Given the description of an element on the screen output the (x, y) to click on. 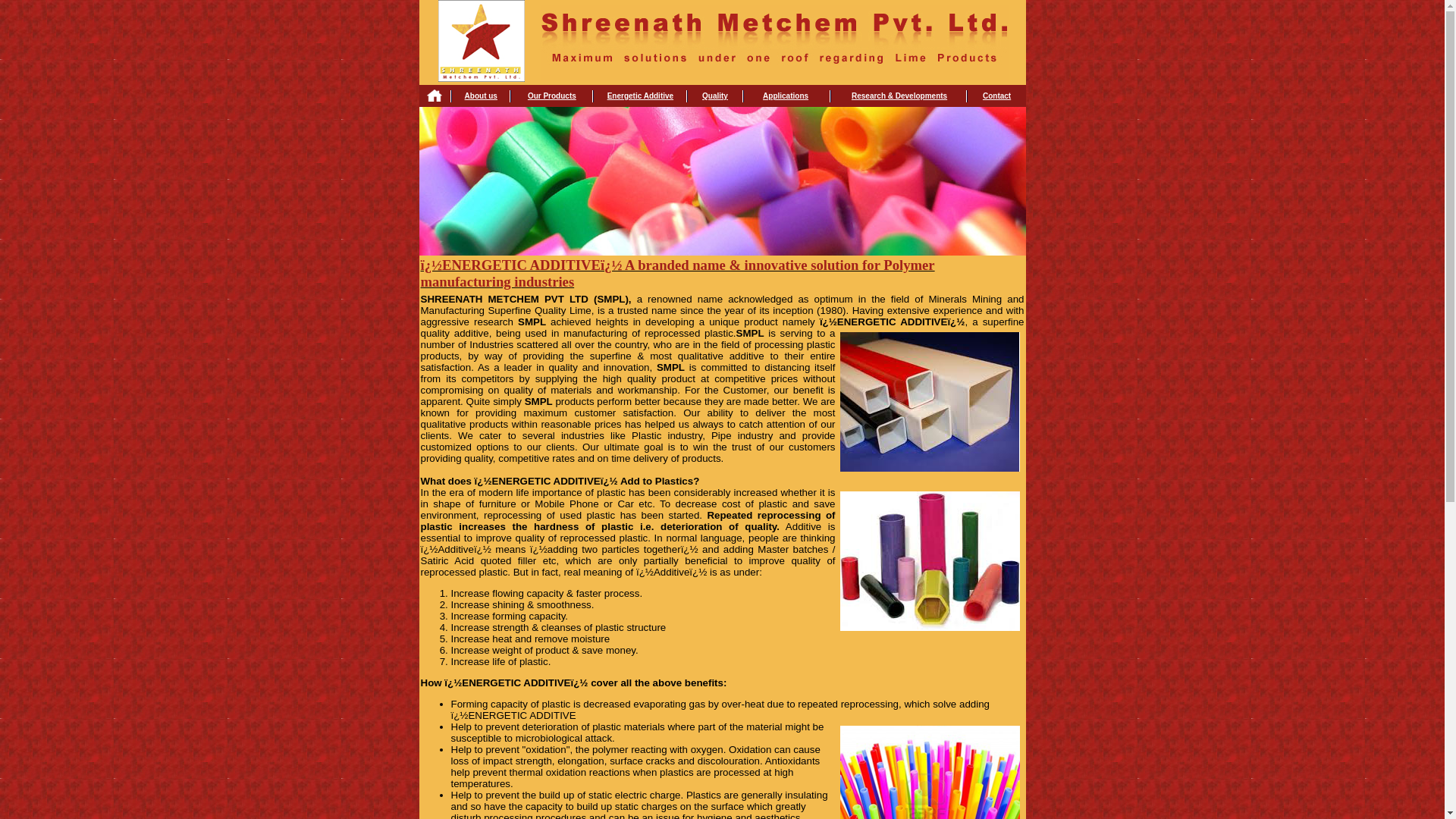
Our Products (551, 95)
Contact (996, 95)
Applications (785, 95)
About us (480, 95)
Energetic Additive (639, 95)
Quality (714, 95)
